Given the description of an element on the screen output the (x, y) to click on. 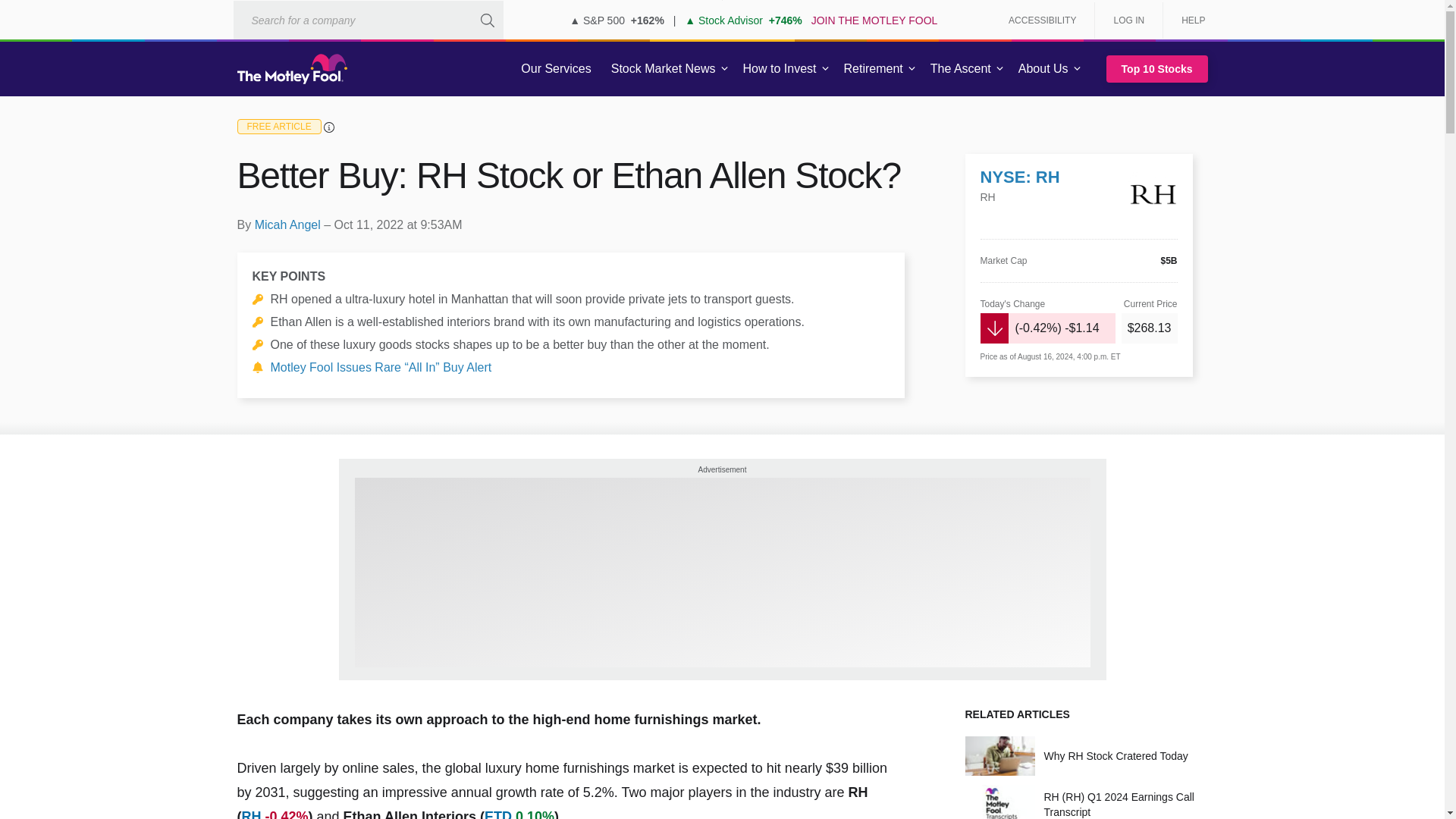
Our Services (555, 68)
How to Invest (779, 68)
ACCESSIBILITY (1042, 19)
LOG IN (1128, 19)
Stock Market News (662, 68)
HELP (1187, 19)
